Given the description of an element on the screen output the (x, y) to click on. 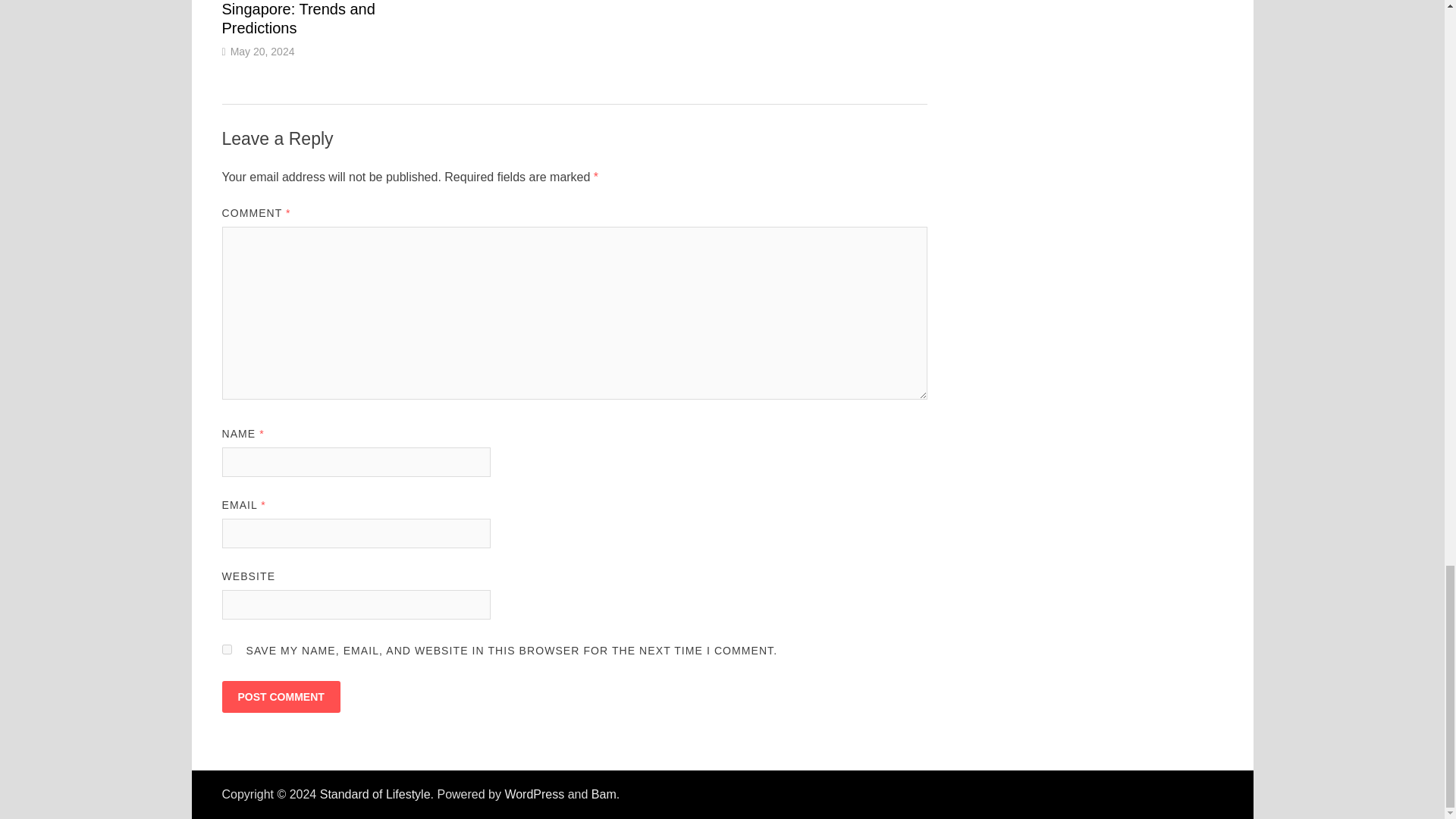
yes (226, 649)
Post Comment (280, 696)
Standard of Lifestyle (375, 793)
